Given the description of an element on the screen output the (x, y) to click on. 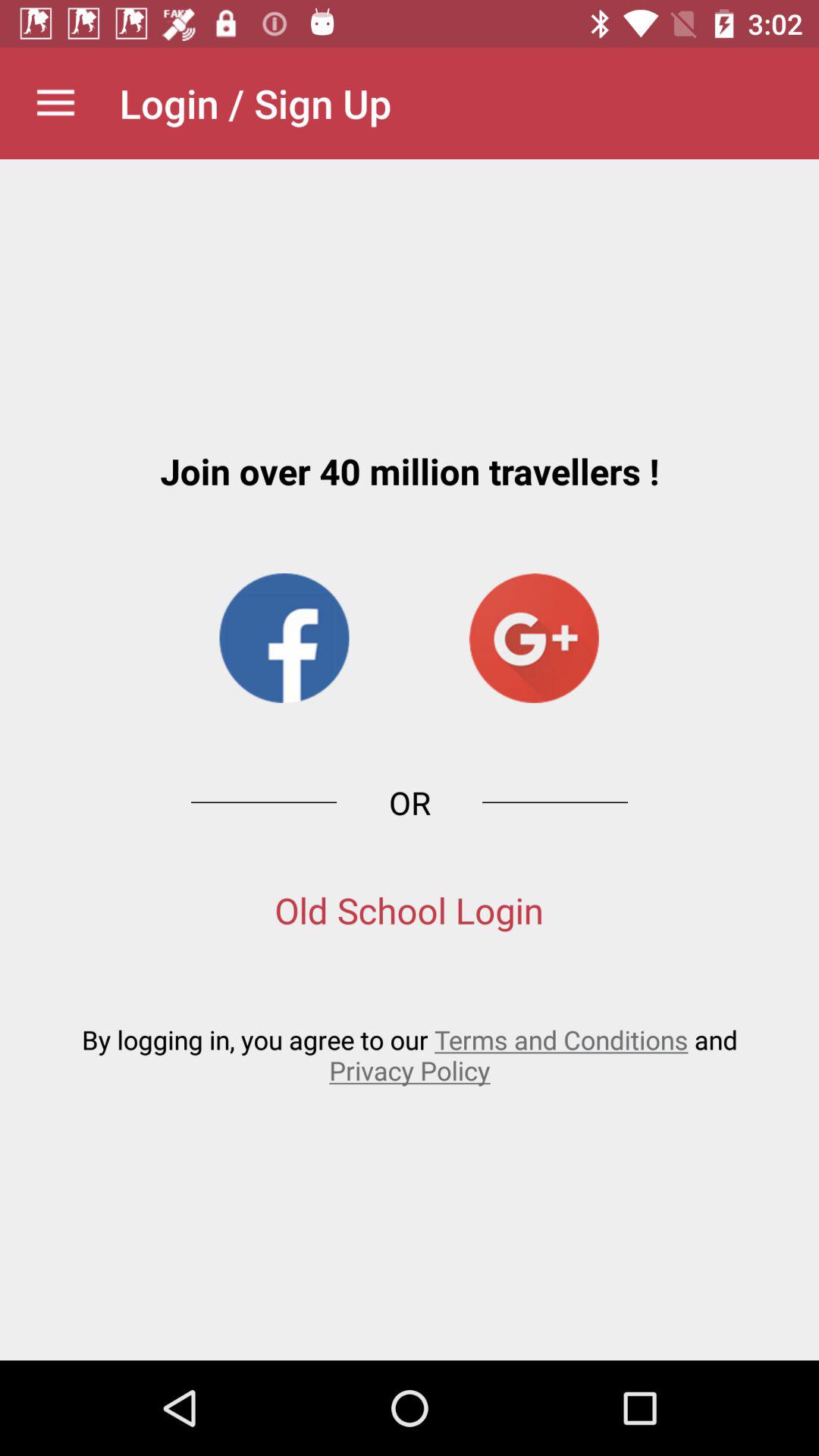
click item above or icon (284, 637)
